Given the description of an element on the screen output the (x, y) to click on. 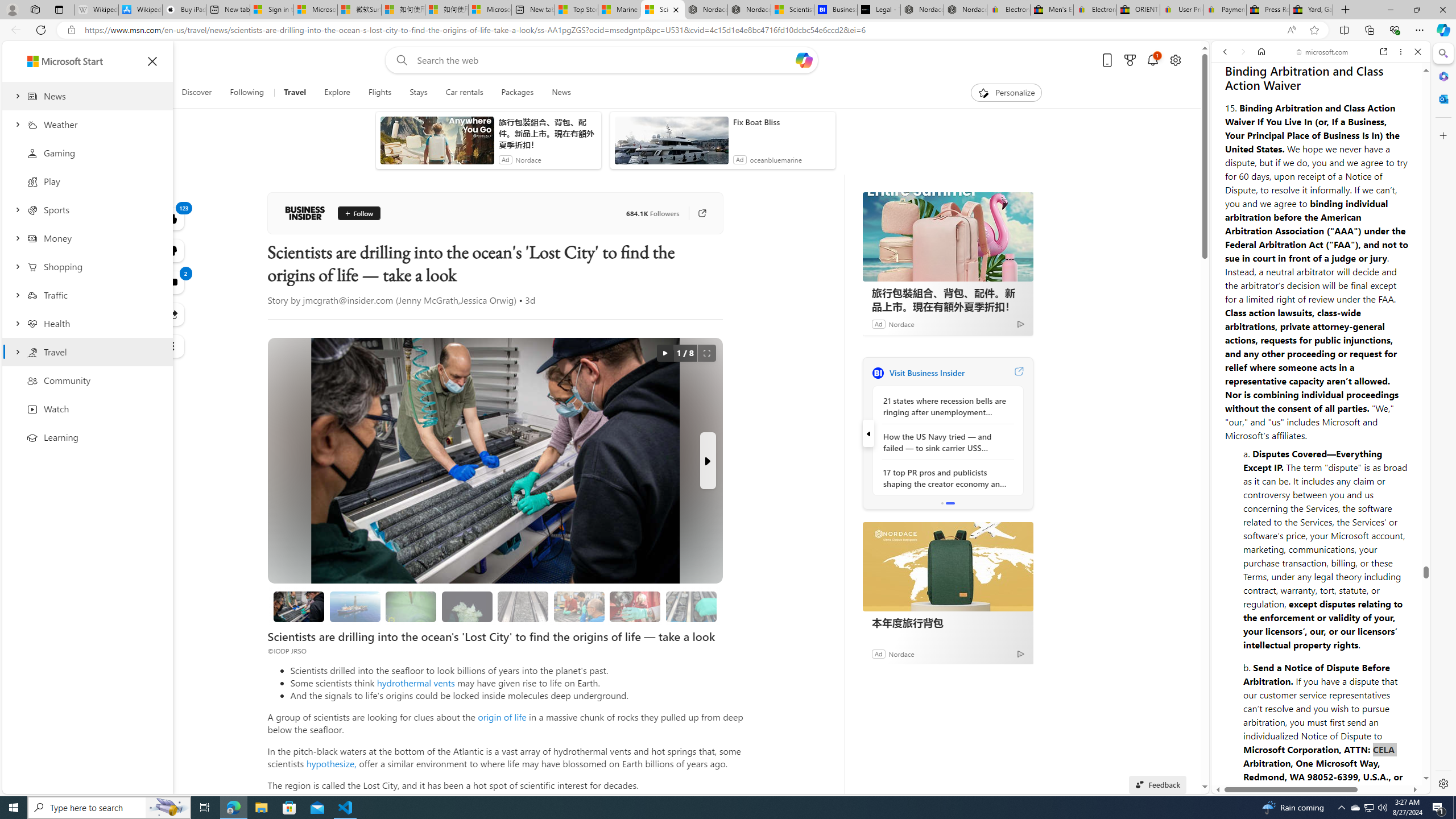
Stays (418, 92)
Share this story (172, 314)
